Given the description of an element on the screen output the (x, y) to click on. 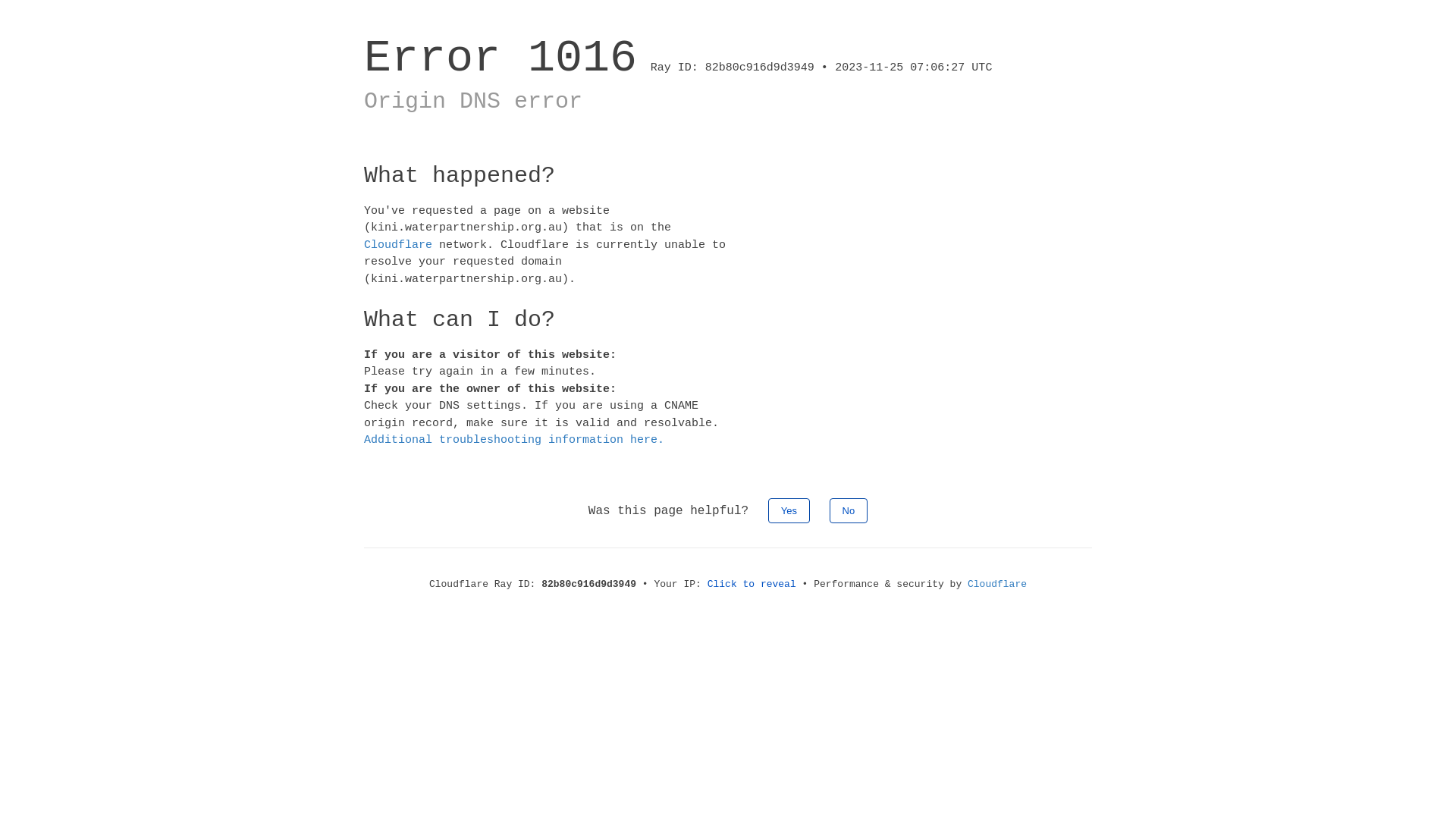
Cloudflare Element type: text (996, 583)
Click to reveal Element type: text (751, 583)
Additional troubleshooting information here. Element type: text (514, 439)
Yes Element type: text (788, 509)
No Element type: text (848, 509)
Cloudflare Element type: text (398, 244)
